Given the description of an element on the screen output the (x, y) to click on. 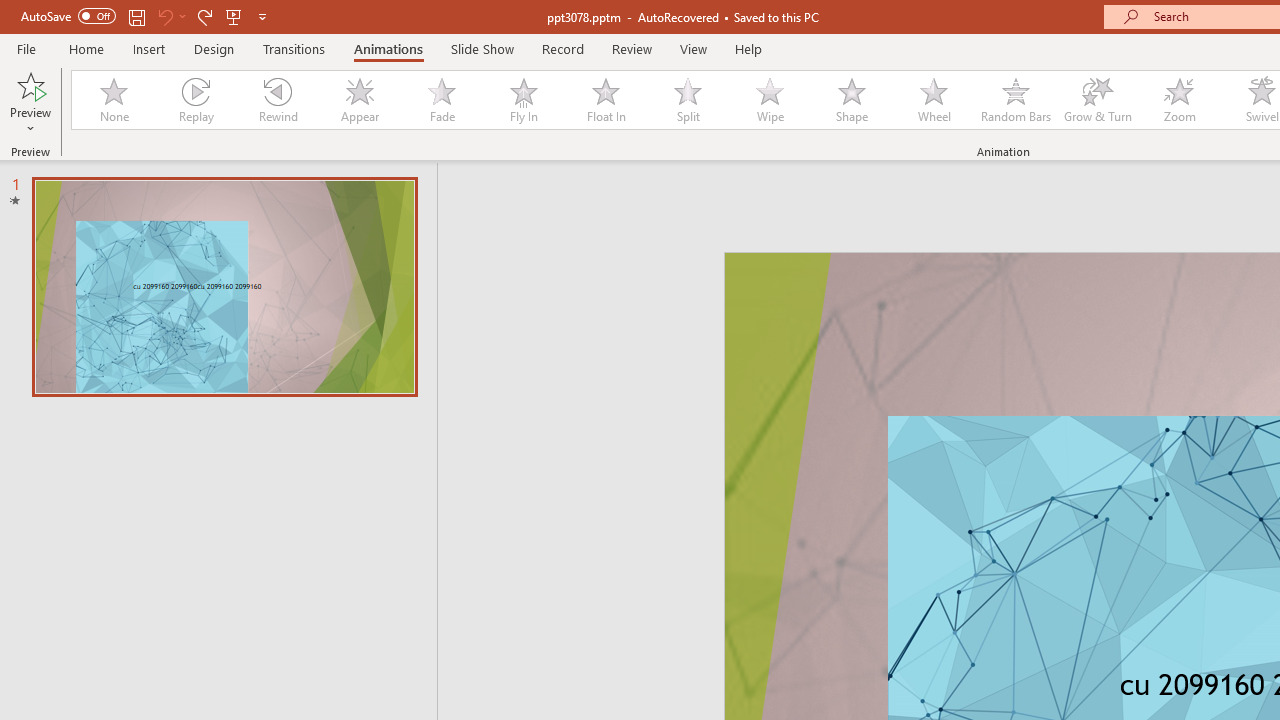
Replay (195, 100)
Preview (30, 102)
Appear (359, 100)
Float In (605, 100)
Split (687, 100)
Rewind (277, 100)
Fade (441, 100)
